Given the description of an element on the screen output the (x, y) to click on. 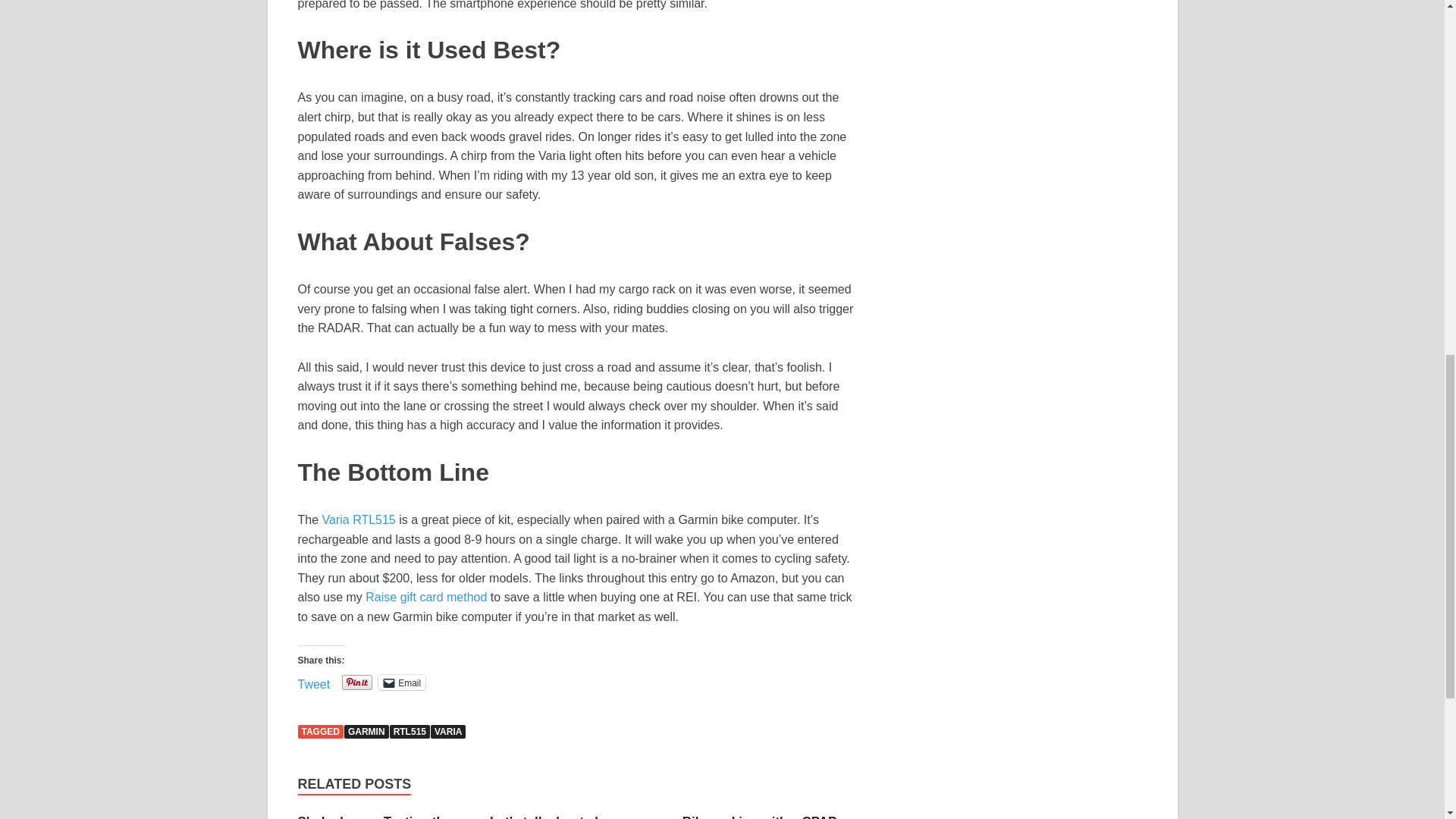
RTL515 (409, 731)
Email (401, 682)
Raise gift card method (425, 596)
Varia RTL515 (358, 519)
Tweet (313, 681)
Click to email a link to a friend (401, 682)
VARIA (447, 731)
GARMIN (365, 731)
Bikepacking with a CPAP (759, 816)
Bikepacking with a CPAP (759, 816)
